Given the description of an element on the screen output the (x, y) to click on. 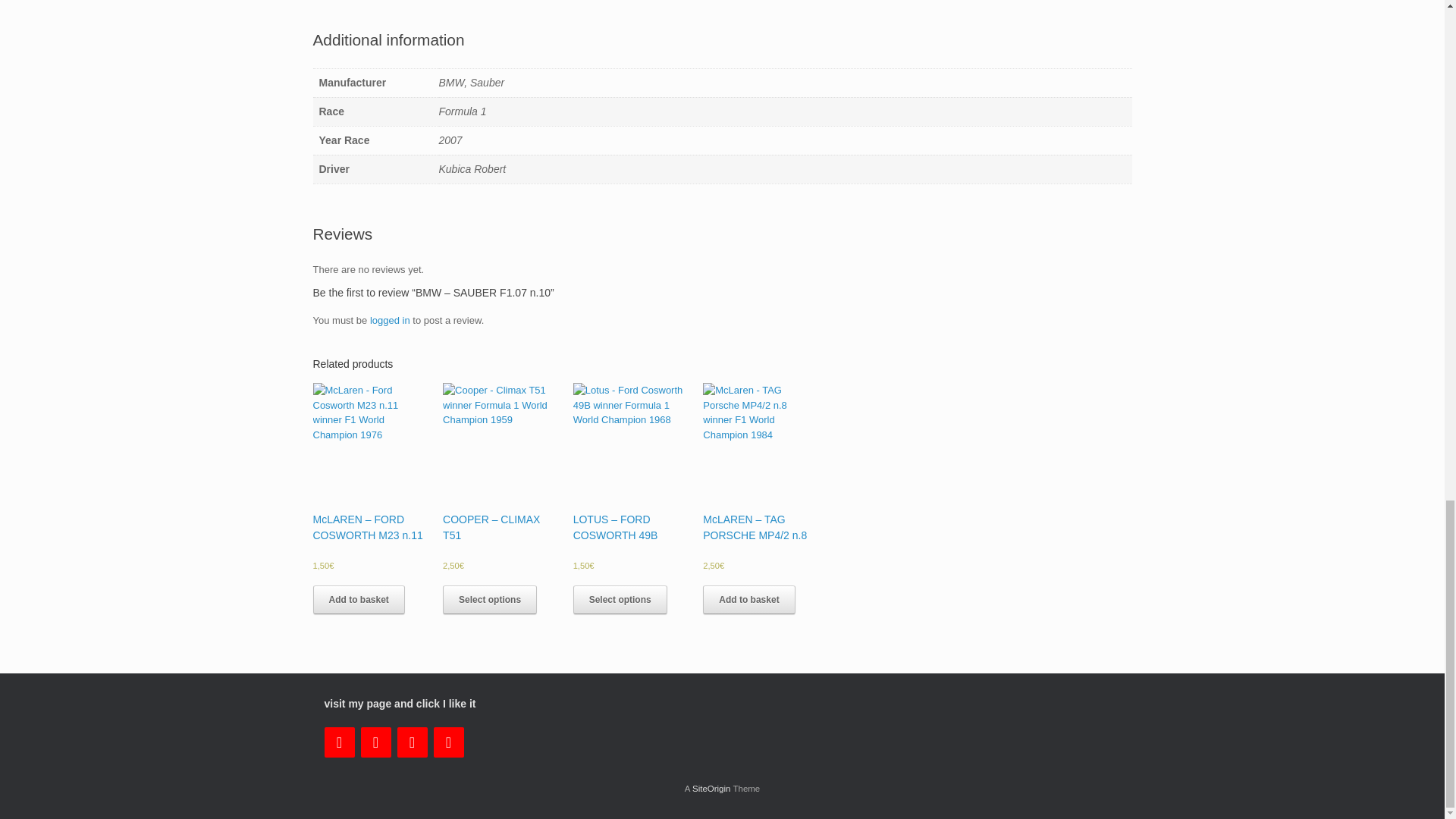
Instagram (412, 742)
Contact (339, 742)
Select options (619, 599)
Select options (489, 599)
Add to basket (748, 599)
Facebook (376, 742)
Add to basket (358, 599)
logged in (389, 319)
Pinterest (448, 742)
